Given the description of an element on the screen output the (x, y) to click on. 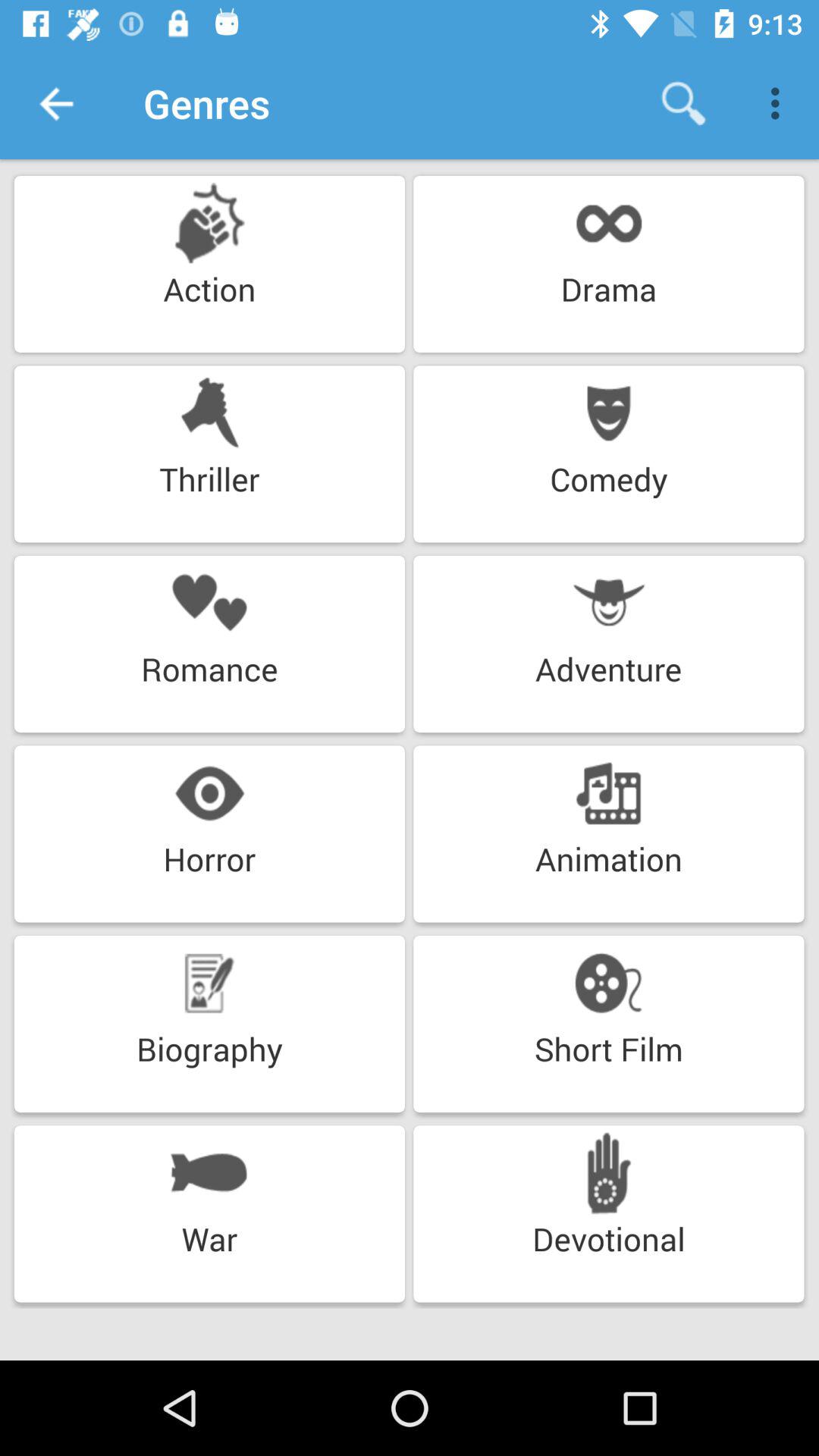
turn on the icon next to the genres  icon (683, 103)
